Given the description of an element on the screen output the (x, y) to click on. 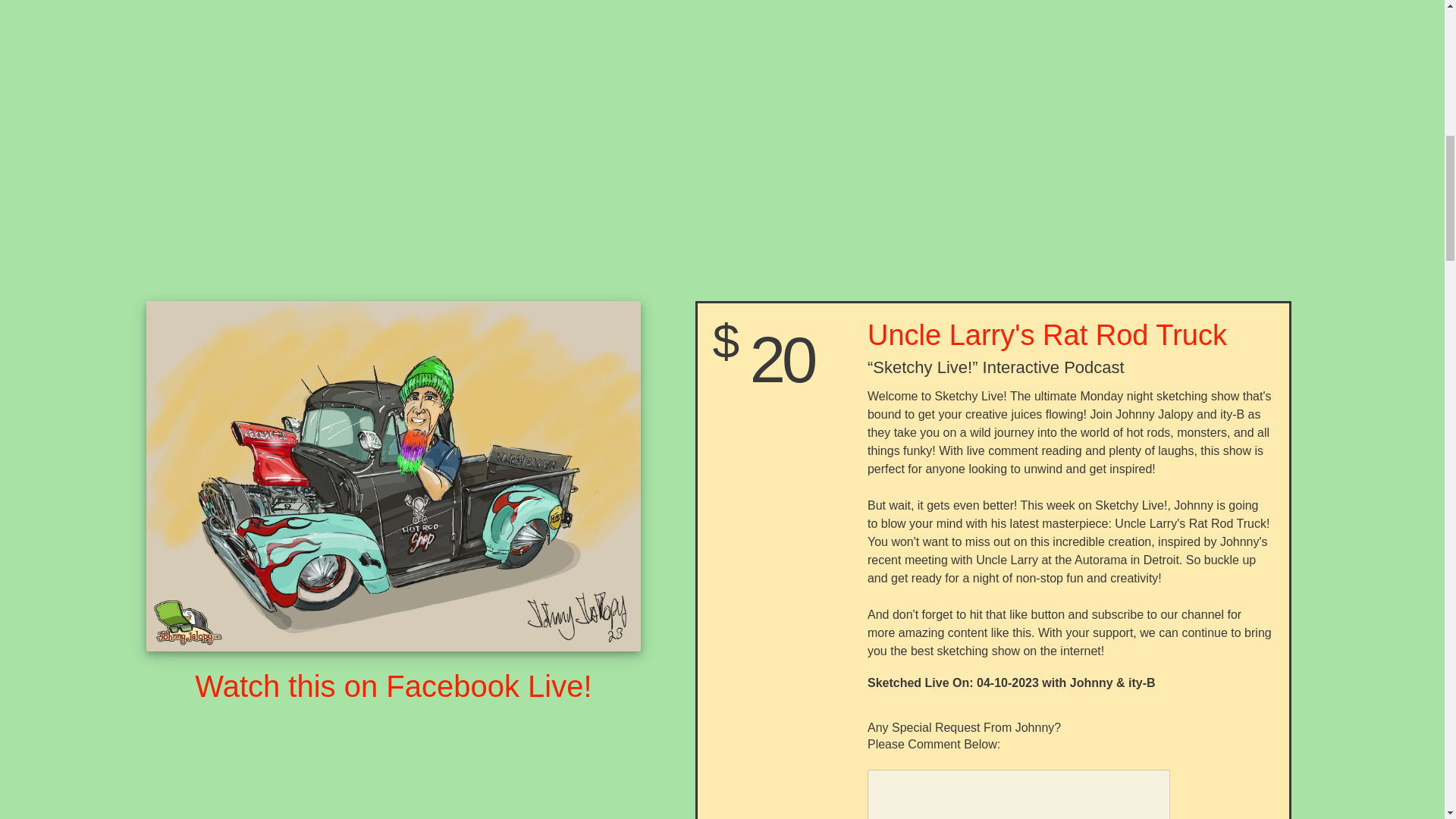
Watch this on Facebook Live! (393, 685)
